Given the description of an element on the screen output the (x, y) to click on. 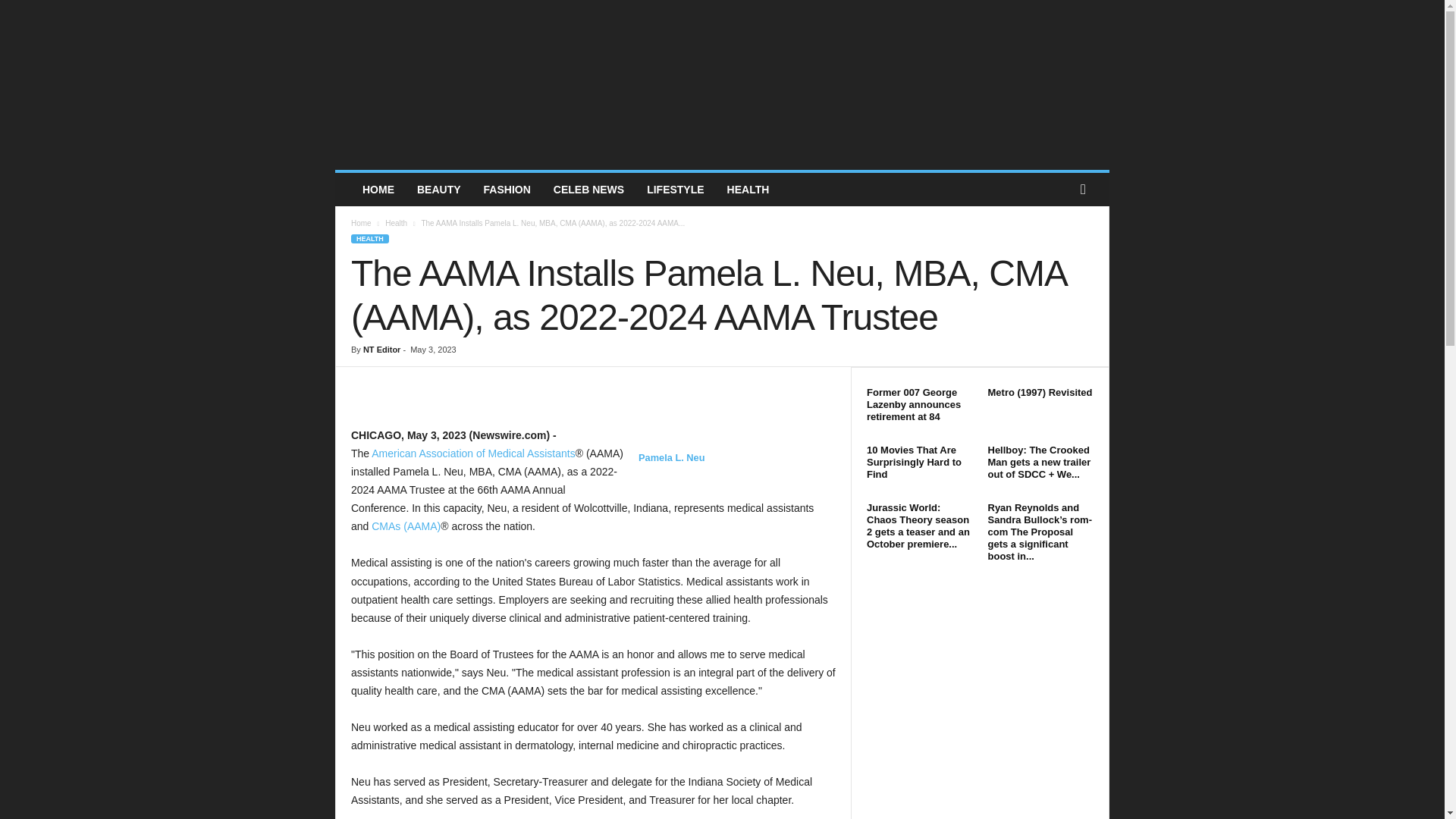
Pamela L. Neu (671, 466)
Health (396, 223)
NT Beauty (721, 84)
View all posts in Health (396, 223)
CELEB NEWS (587, 189)
HEALTH (748, 189)
FASHION (506, 189)
HOME (378, 189)
NT Beauty magazine (722, 84)
LIFESTYLE (674, 189)
NT Editor (381, 348)
BEAUTY (438, 189)
Home (360, 223)
American Association of Medical Assistants (473, 453)
HEALTH (369, 238)
